Given the description of an element on the screen output the (x, y) to click on. 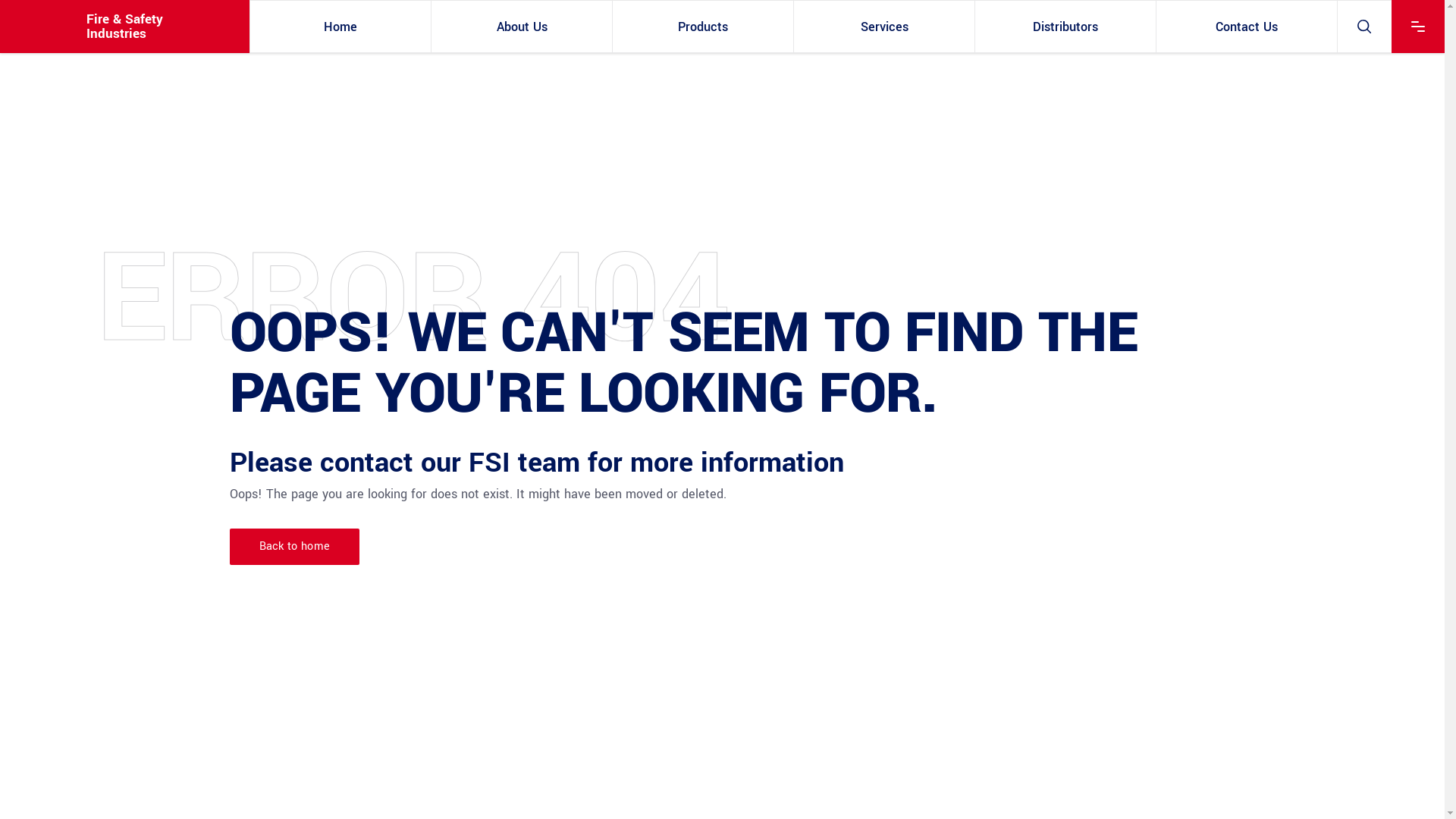
Fire & Safety
Industries Element type: text (124, 26)
Contact Us Element type: text (1246, 26)
Back to home Element type: text (294, 546)
Services Element type: text (883, 26)
Home Element type: text (340, 26)
Distributors Element type: text (1065, 26)
Products Element type: text (702, 26)
About Us Element type: text (521, 26)
